Given the description of an element on the screen output the (x, y) to click on. 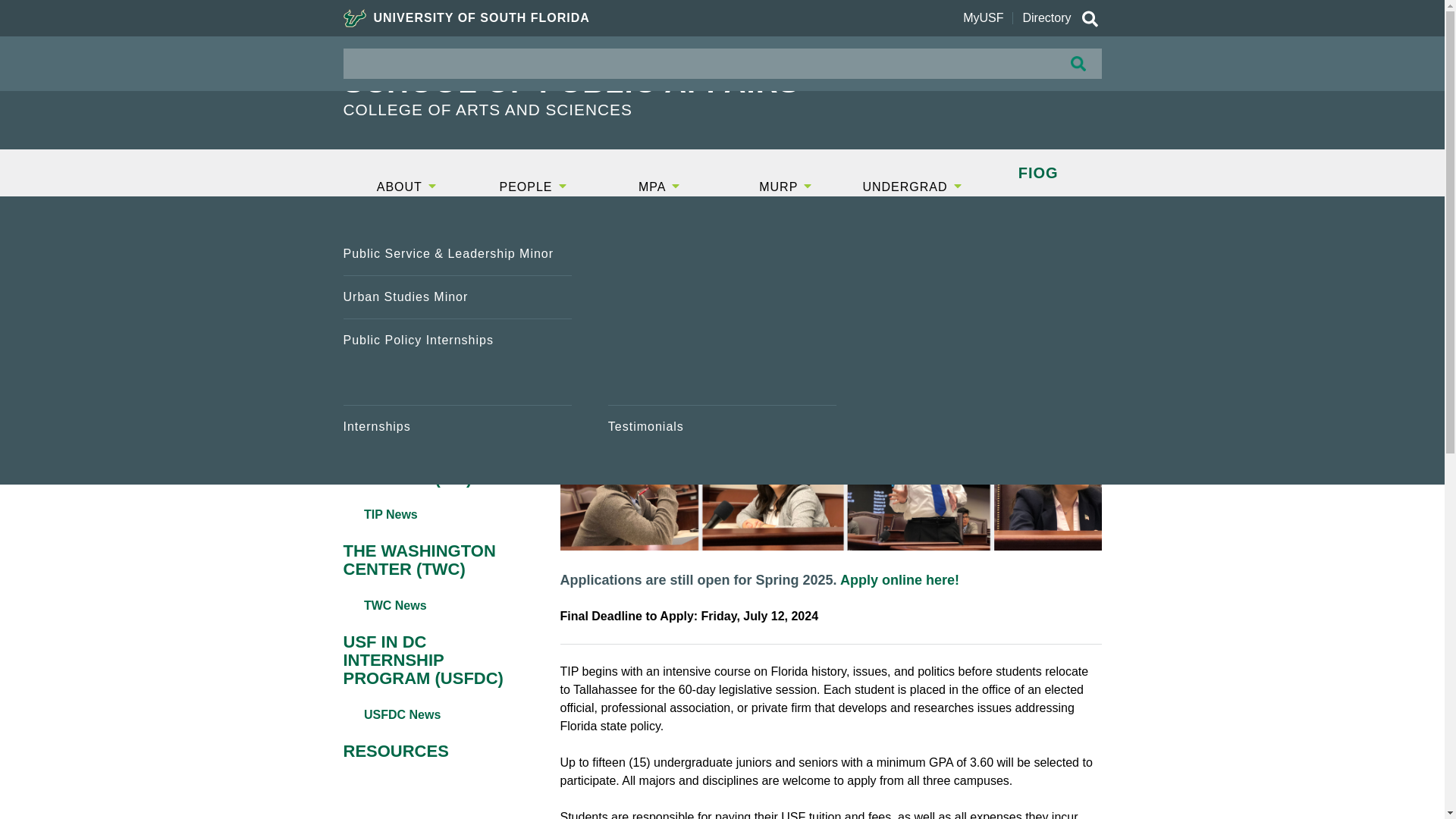
FIOG (1038, 172)
Testimonials (721, 426)
School Director (456, 340)
SPA News (721, 297)
Testimonials (721, 383)
COLLEGE OF ARTS AND SCIENCES (607, 109)
MyUSF (982, 18)
Opportunities (721, 253)
SCHOOL OF PUBLIC AFFAIRS (607, 81)
UNIVERSITY OF SOUTH FLORIDA (465, 18)
Student Organizations (721, 340)
GIVE NOW (1039, 69)
Overview (456, 253)
Make a Donation (456, 383)
Contact Us (456, 426)
